Given the description of an element on the screen output the (x, y) to click on. 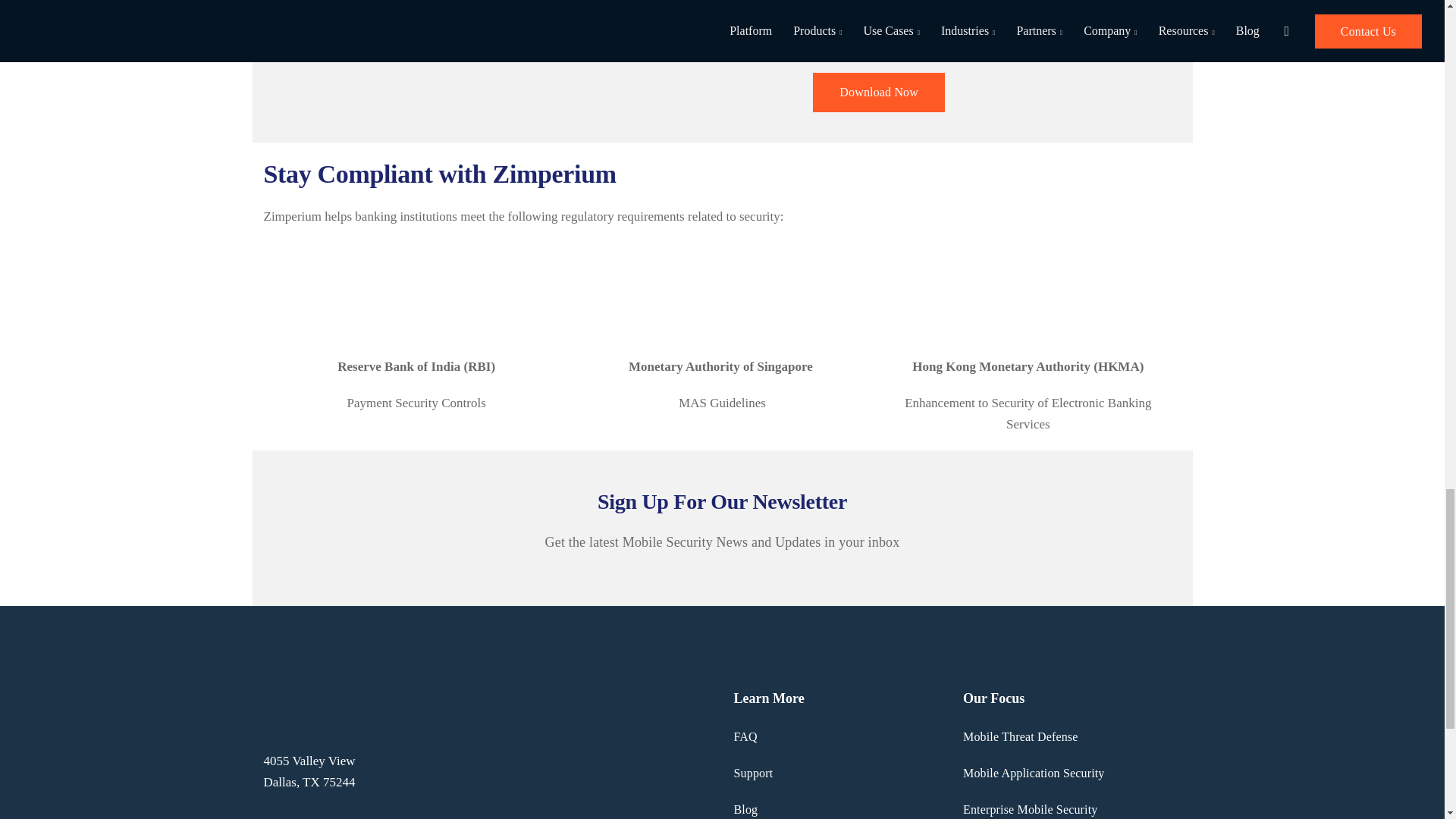
Contact Zimperium (878, 92)
